Given the description of an element on the screen output the (x, y) to click on. 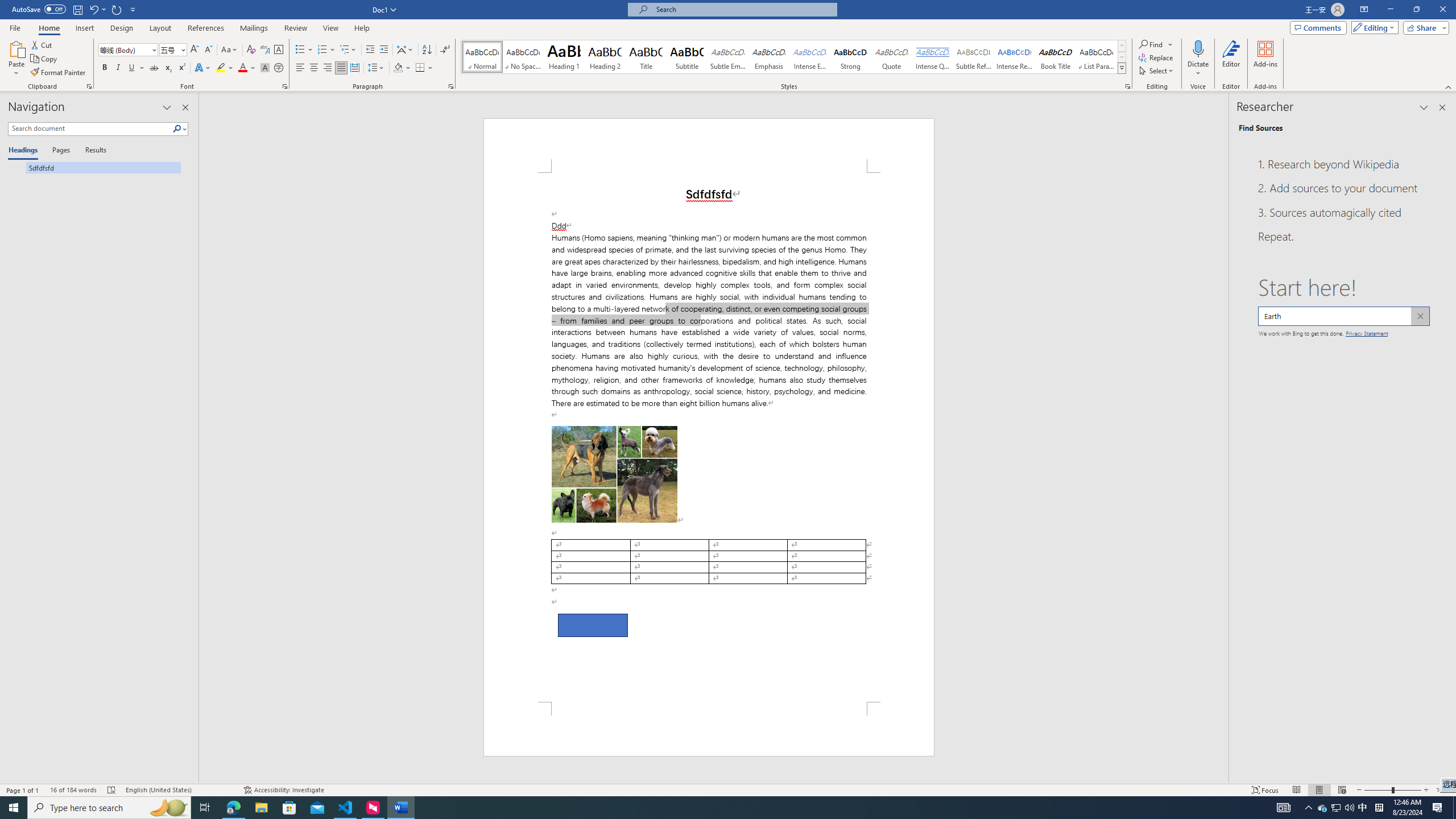
Search (179, 128)
Paste (16, 58)
Underline (136, 67)
Italic (118, 67)
Spelling and Grammar Check Errors (111, 790)
Grow Font (193, 49)
Home (48, 28)
Close pane (1441, 107)
Bold (104, 67)
Title (646, 56)
Results (91, 150)
AutomationID: QuickStylesGallery (794, 56)
Rectangle 2 (592, 625)
Line and Paragraph Spacing (376, 67)
References (205, 28)
